Given the description of an element on the screen output the (x, y) to click on. 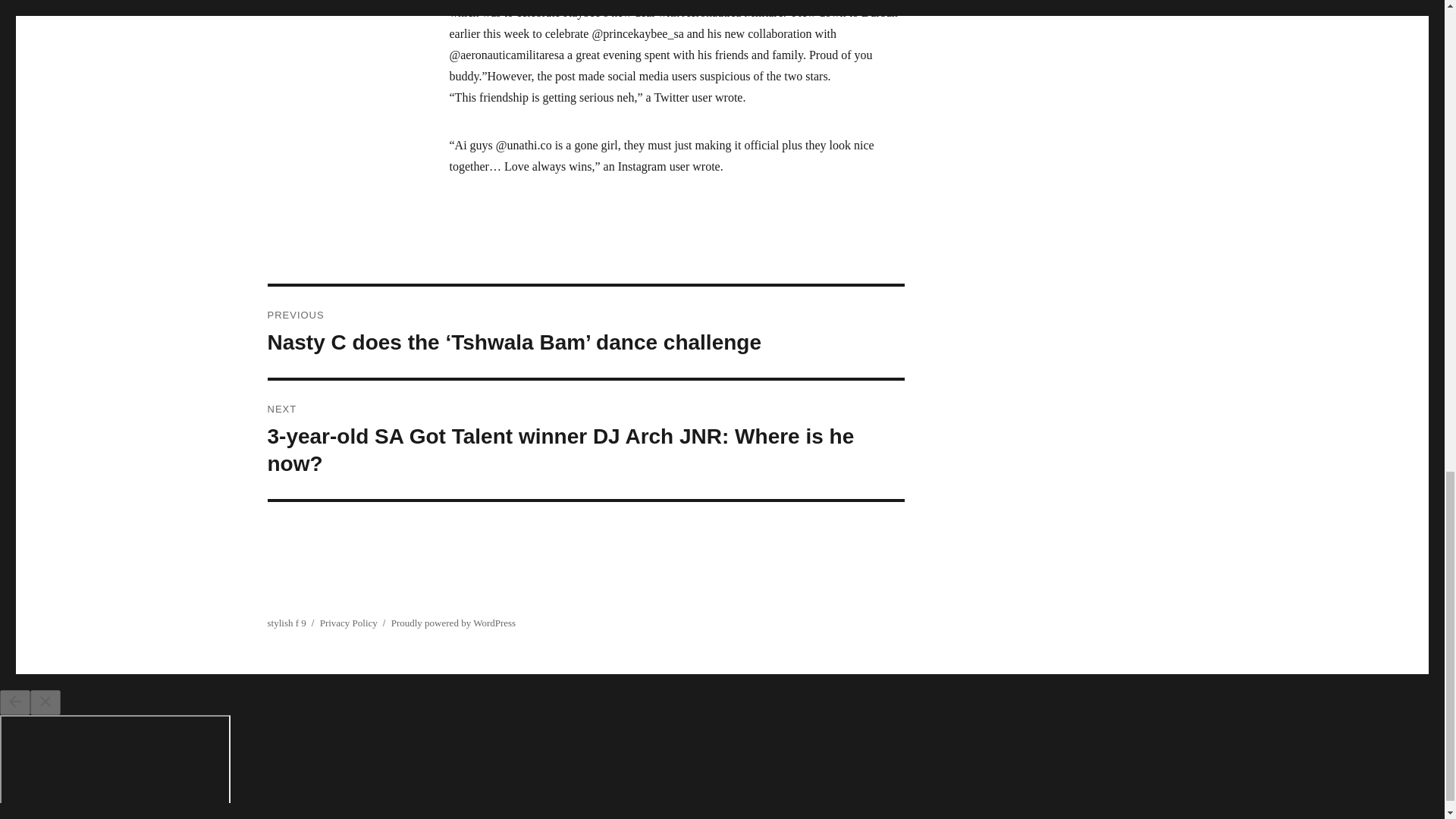
Proudly powered by WordPress (453, 622)
Privacy Policy (348, 622)
stylish f 9 (285, 622)
